Given the description of an element on the screen output the (x, y) to click on. 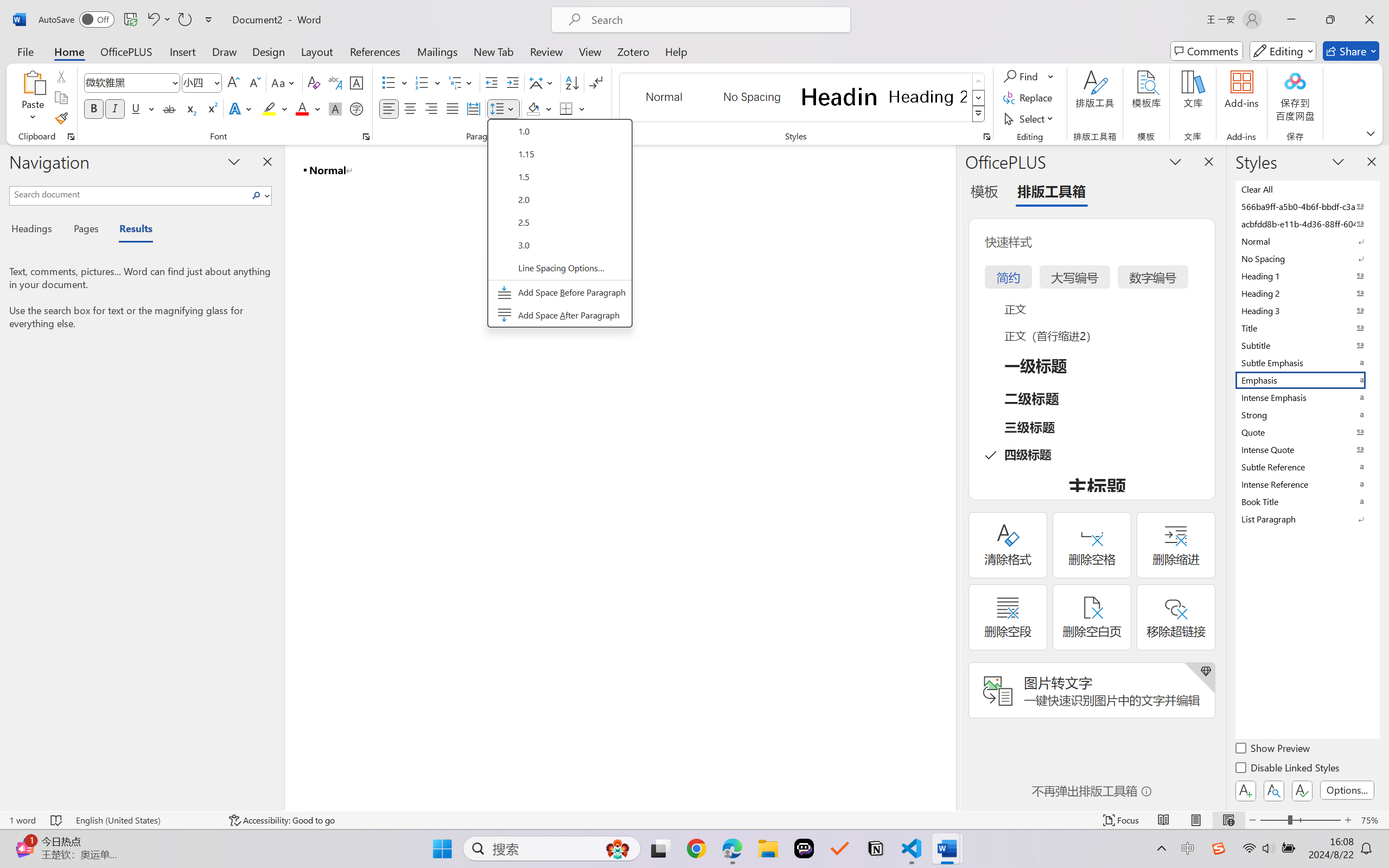
Zoom (1300, 819)
View (589, 51)
Find (1022, 75)
Undo Style (158, 19)
Superscript (210, 108)
Show/Hide Editing Marks (595, 82)
Design (268, 51)
Book Title (1306, 501)
Quick Access Toolbar (127, 19)
Zotero (632, 51)
